Given the description of an element on the screen output the (x, y) to click on. 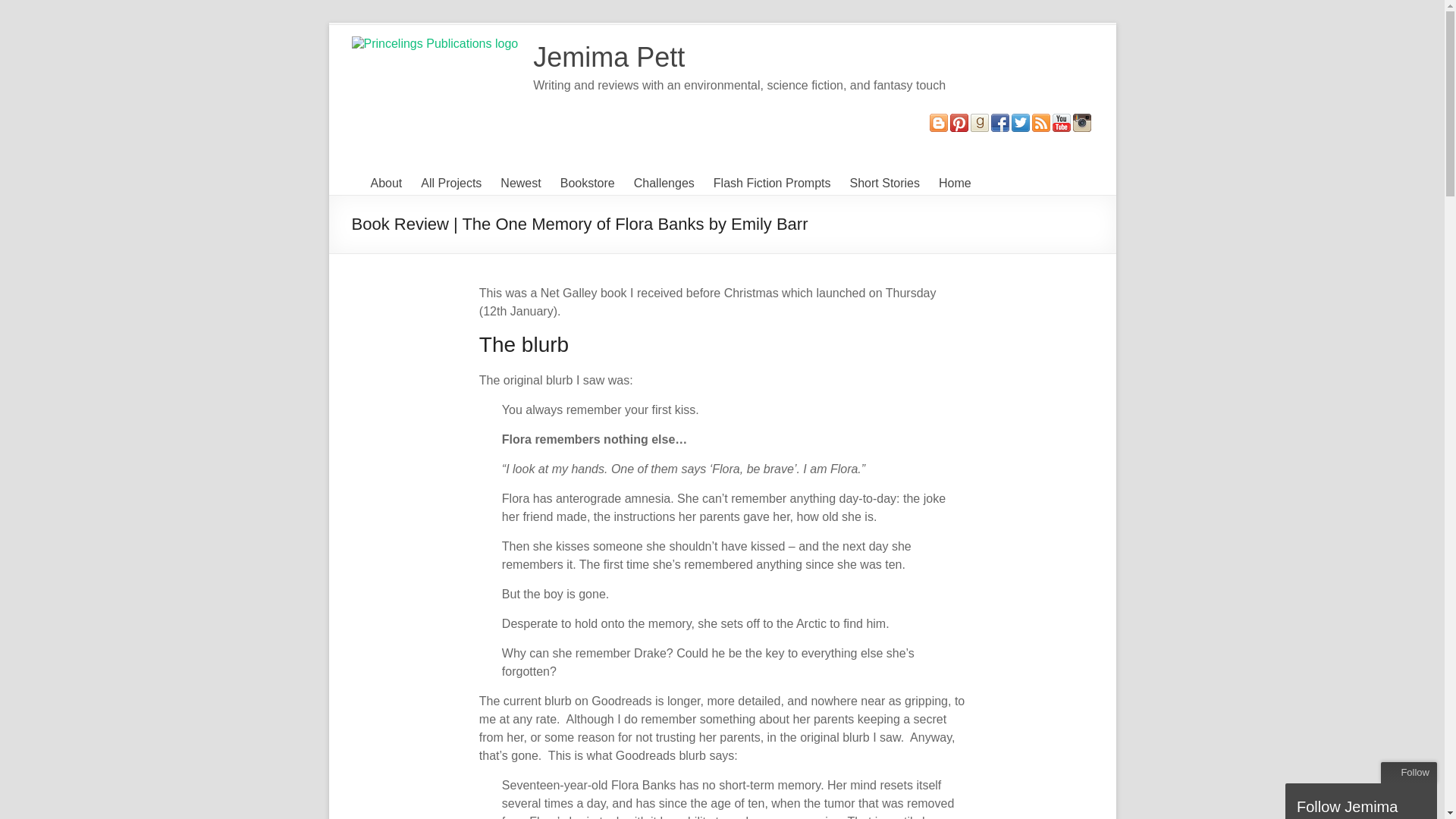
Newest (520, 182)
jemimapett on Pinterest (958, 120)
Blogger Blog (938, 120)
Goodreads (979, 120)
Jemima Pett (608, 56)
Bookstore (587, 182)
Connect on Facebook (999, 120)
Subscribe to RSS Feed (1039, 120)
YouTube Channel (1061, 120)
